Given the description of an element on the screen output the (x, y) to click on. 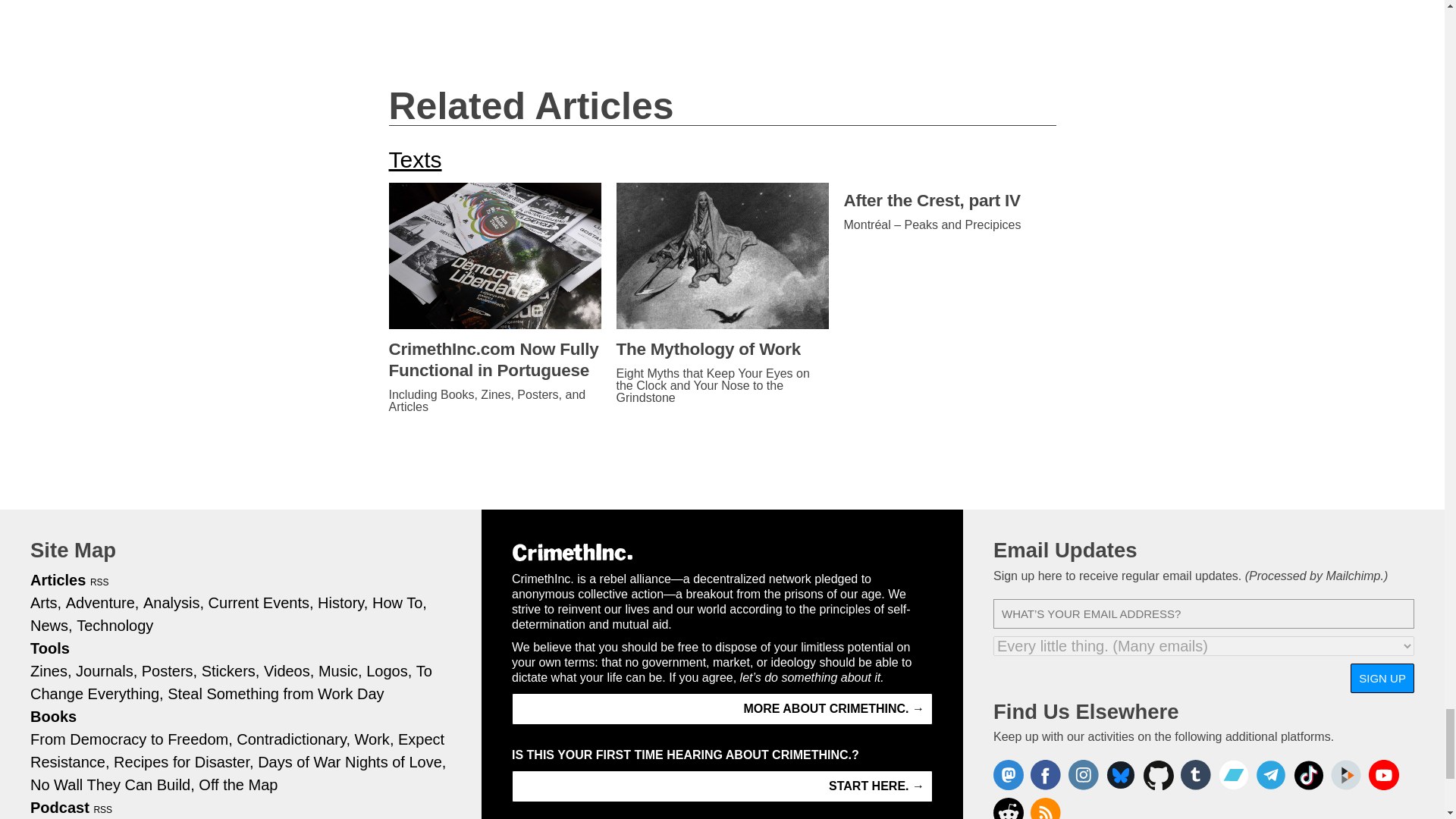
Articles (57, 579)
Arts (45, 602)
The Mythology of Work (721, 349)
Adventure (102, 602)
After the Crest, part IV (949, 200)
Analysis (172, 602)
Including Books, Zines, Posters, and Articles (493, 401)
Texts (414, 159)
RSS (99, 582)
Current Events (261, 602)
CrimethInc.com Now Fully Functional in Portuguese (493, 360)
